Given the description of an element on the screen output the (x, y) to click on. 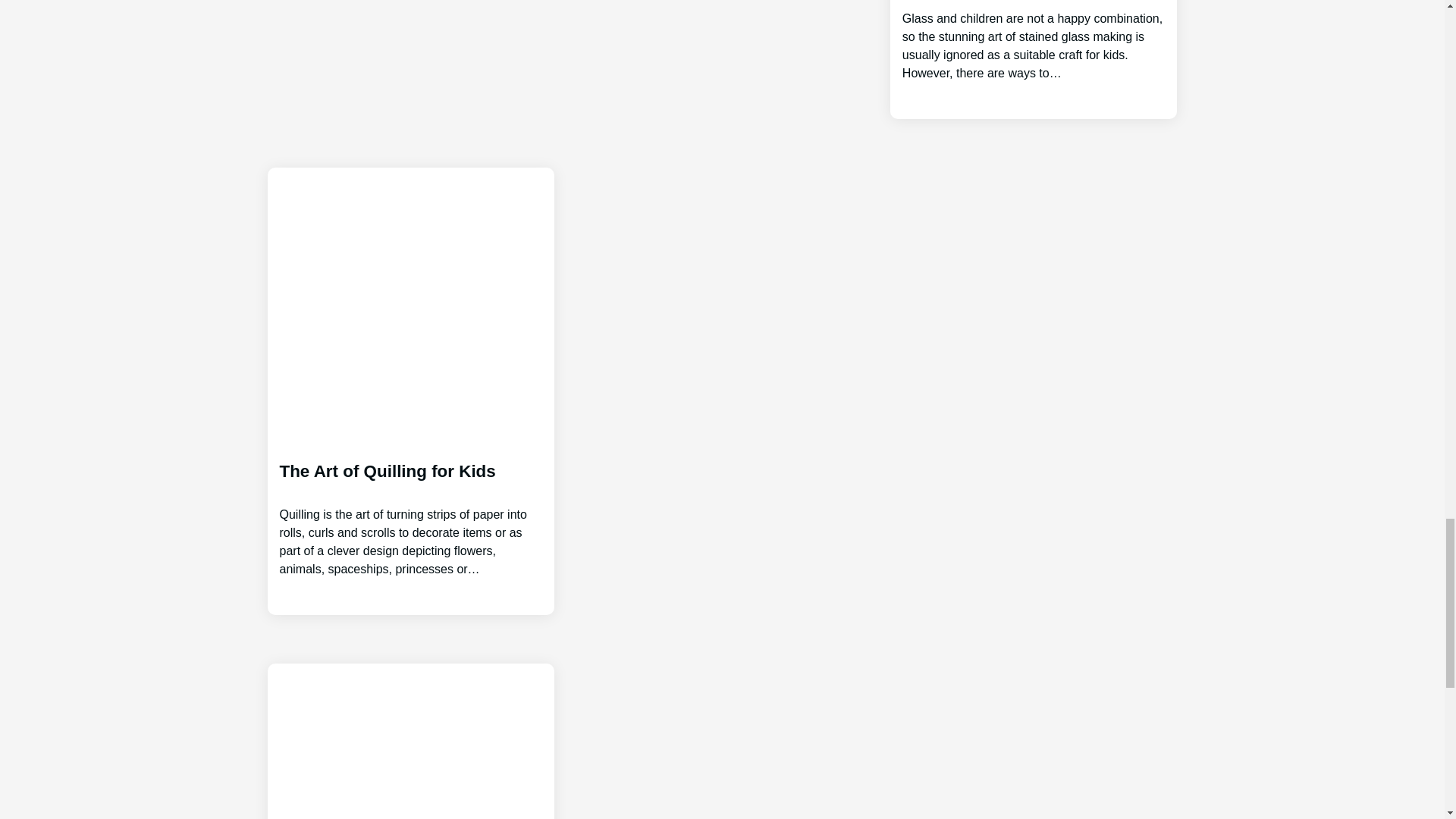
The Art of Quilling for Kids (410, 506)
Stained Glass Craft Projects for Kids (1034, 41)
